Given the description of an element on the screen output the (x, y) to click on. 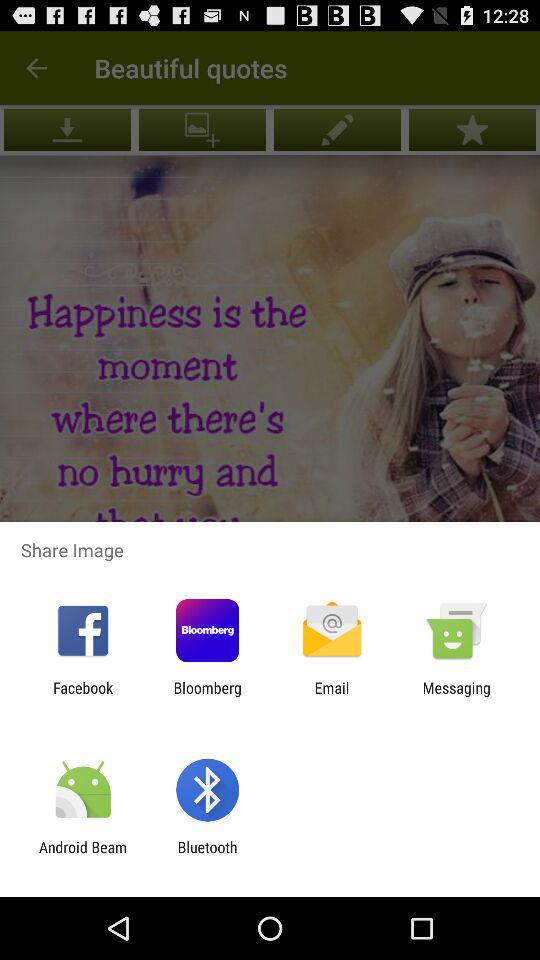
press the messaging app (456, 696)
